Given the description of an element on the screen output the (x, y) to click on. 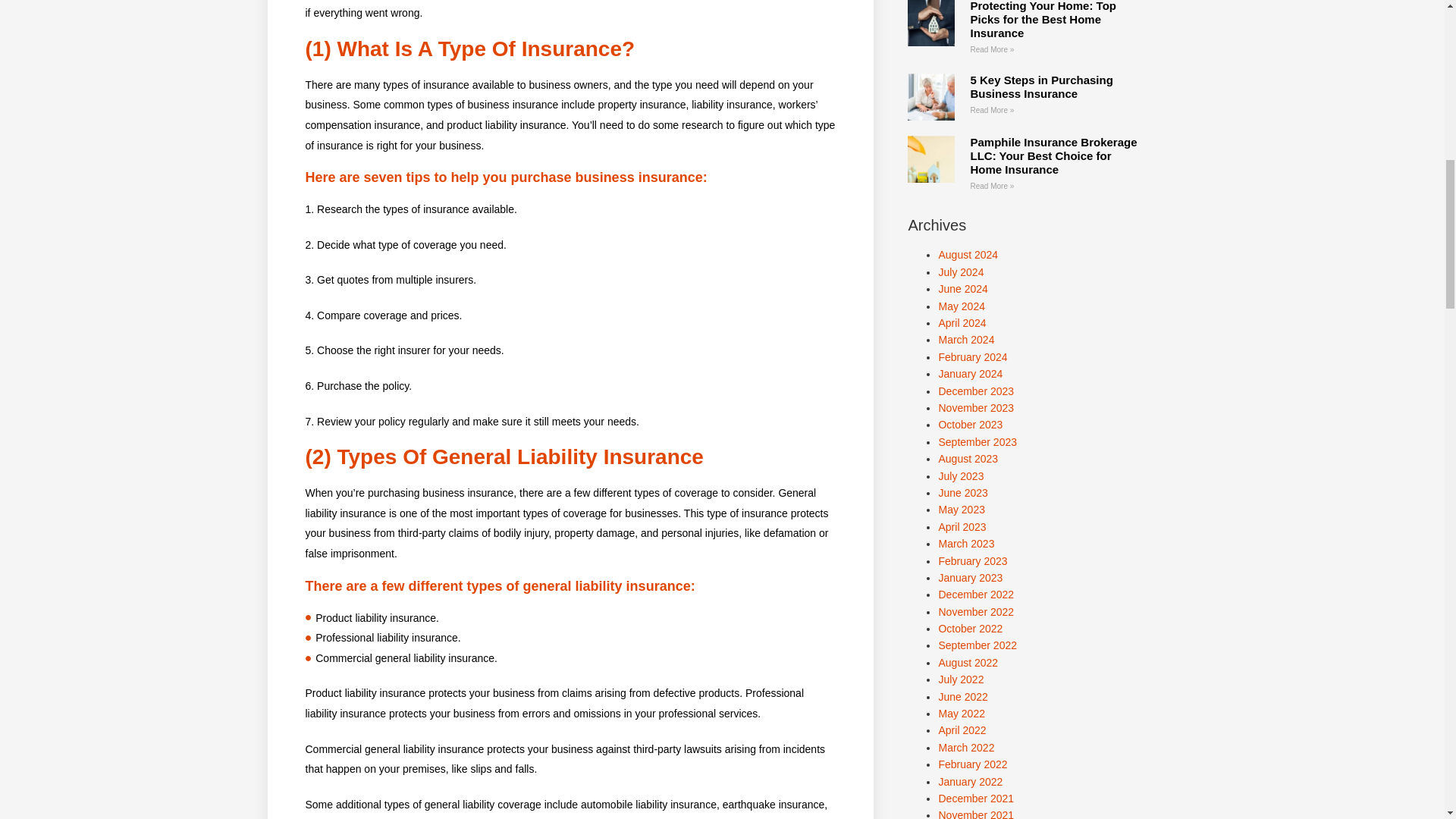
5 Key Steps in Purchasing Business Insurance (1040, 86)
Protecting Your Home: Top Picks for the Best Home Insurance (1042, 19)
